Given the description of an element on the screen output the (x, y) to click on. 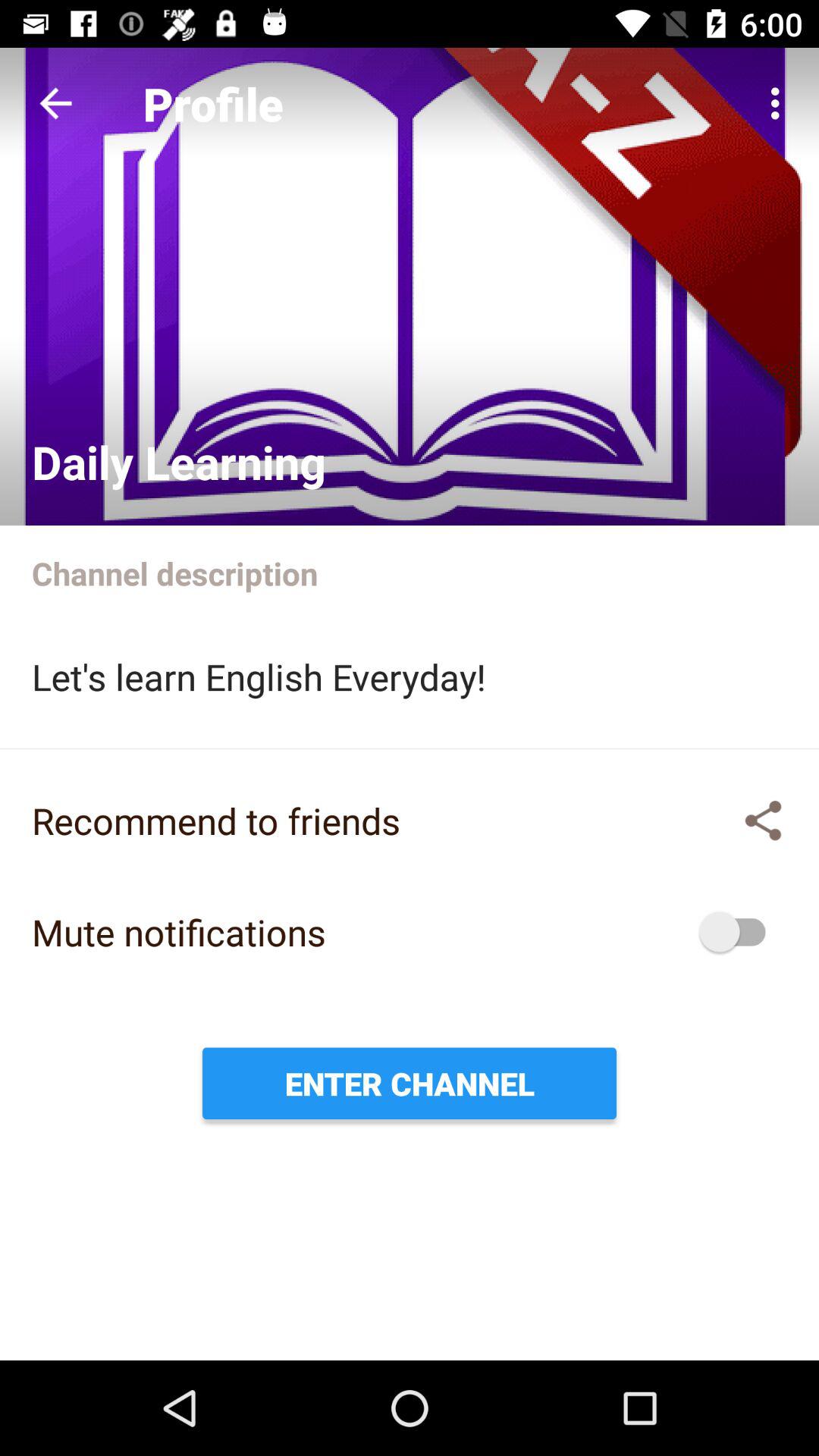
choose the enter channel icon (409, 1083)
